Given the description of an element on the screen output the (x, y) to click on. 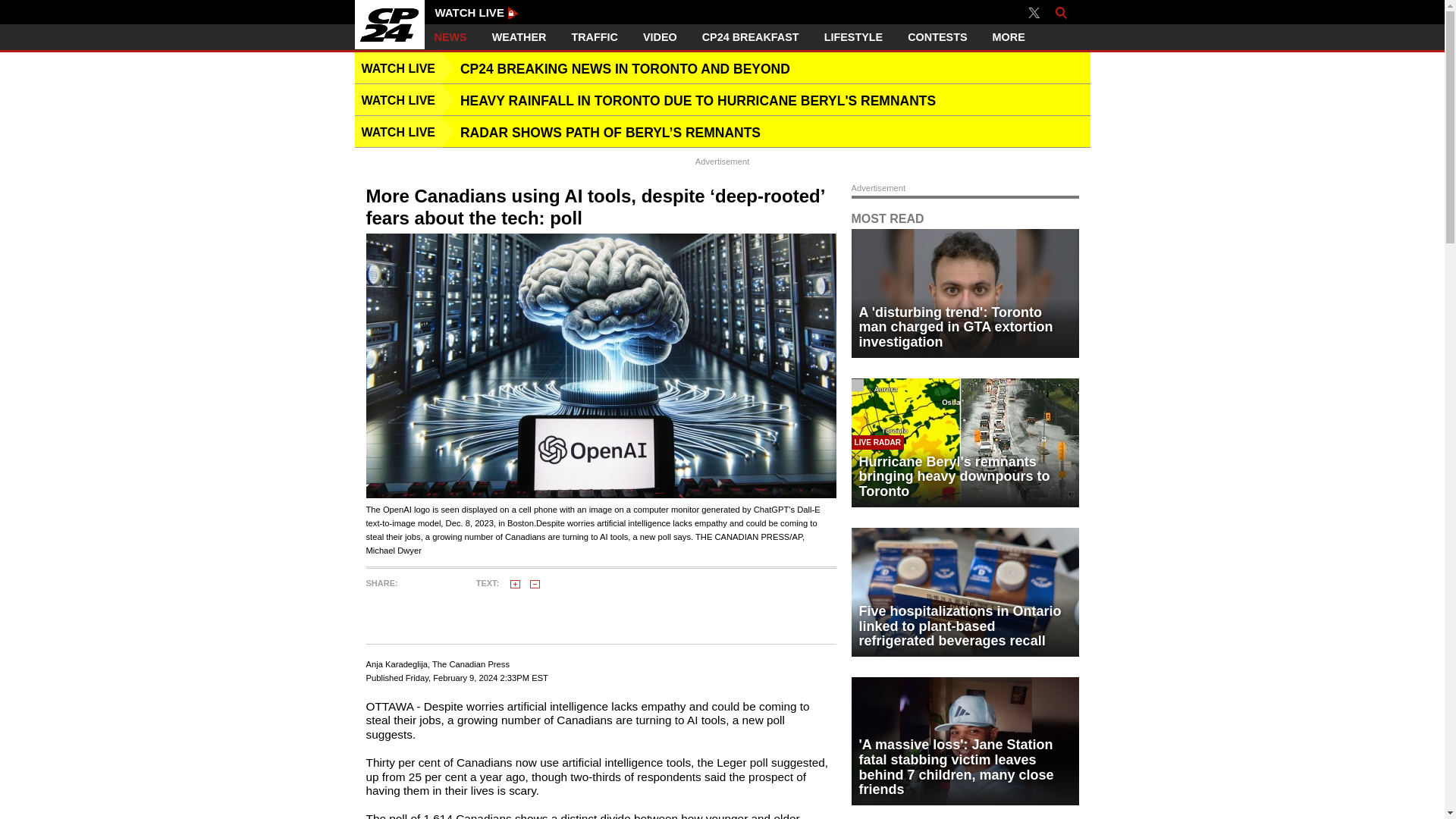
CONTESTS (936, 37)
CP24.com (390, 24)
WEATHER (519, 37)
WATCH LIVE (477, 11)
Weather (519, 37)
Contests (936, 37)
